Given the description of an element on the screen output the (x, y) to click on. 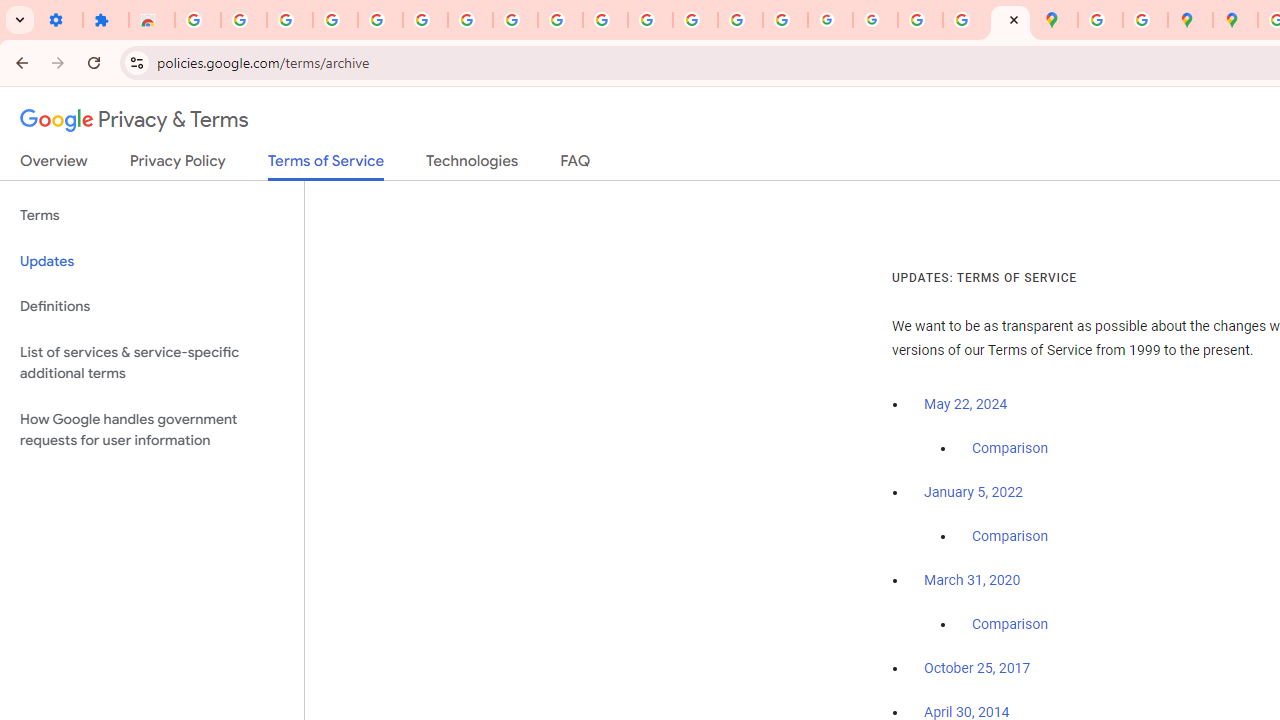
October 25, 2017 (977, 669)
Safety in Our Products - Google Safety Center (1145, 20)
Google Account (514, 20)
March 31, 2020 (972, 580)
How Google handles government requests for user information (152, 429)
